Given the description of an element on the screen output the (x, y) to click on. 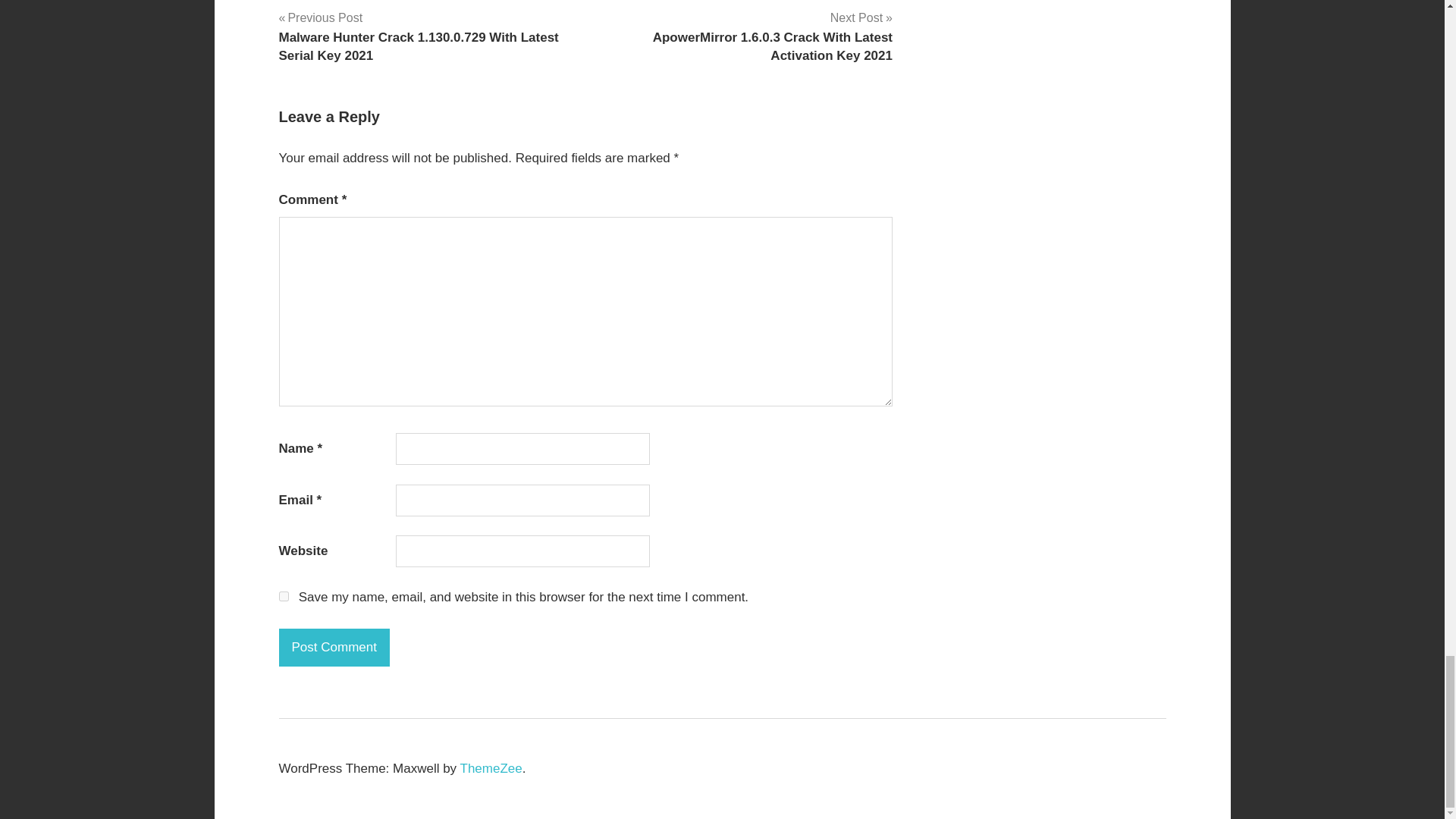
Post Comment (334, 647)
ThemeZee (491, 768)
yes (283, 596)
Post Comment (334, 647)
